Given the description of an element on the screen output the (x, y) to click on. 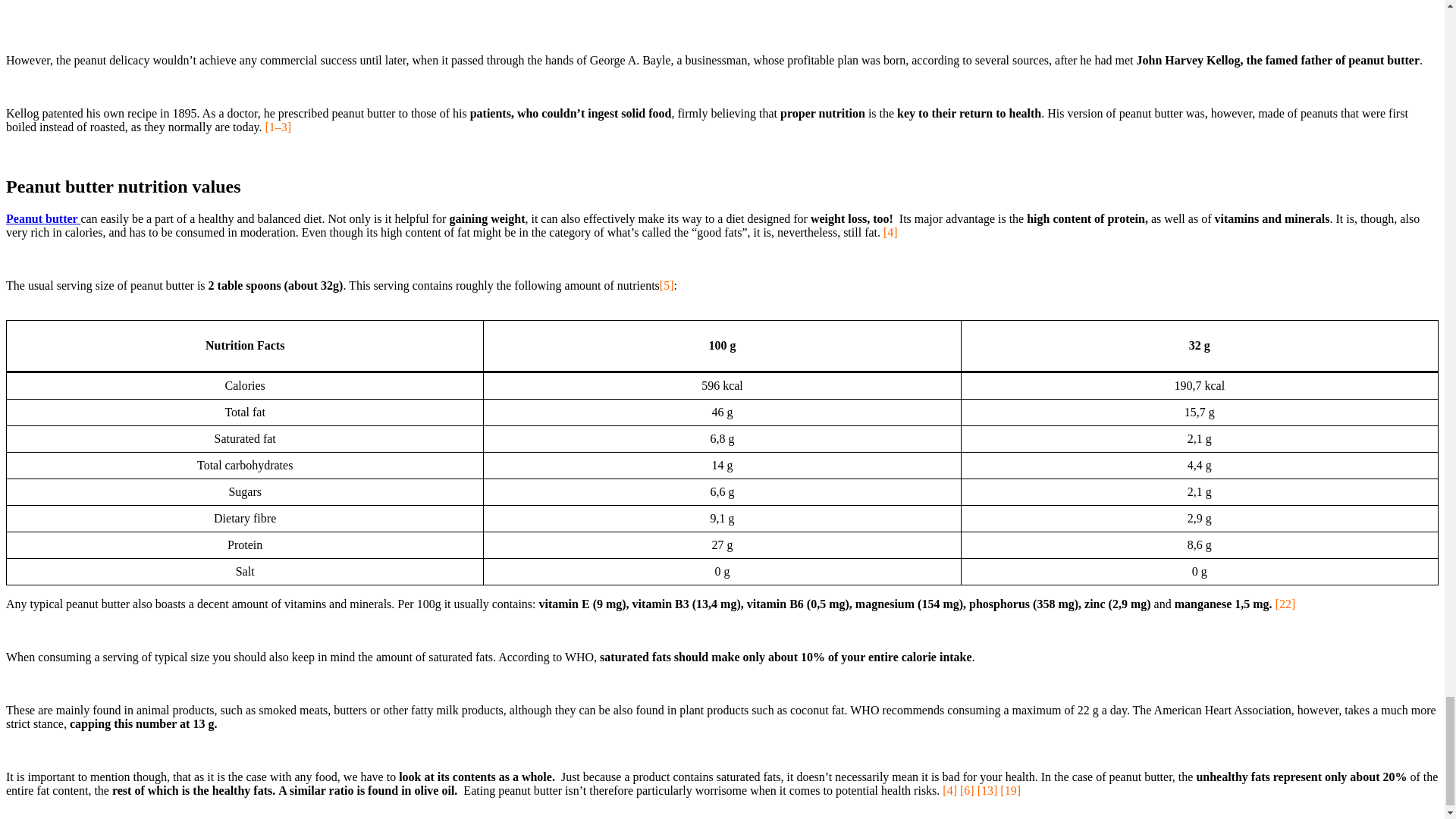
The best peanut butter (722, 7)
